Given the description of an element on the screen output the (x, y) to click on. 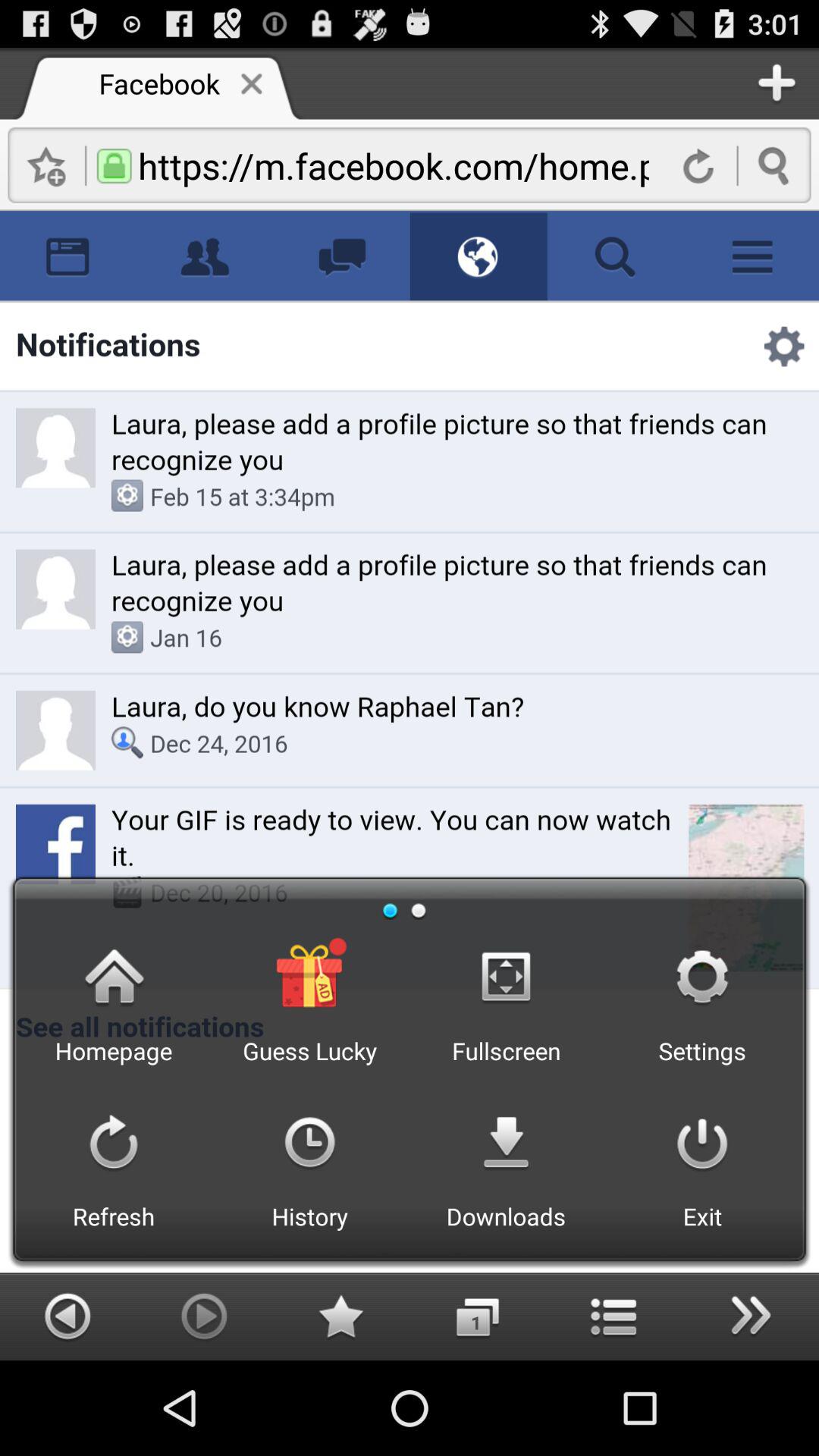
the blue colored dot left to white dot above guess lucky (390, 910)
